Given the description of an element on the screen output the (x, y) to click on. 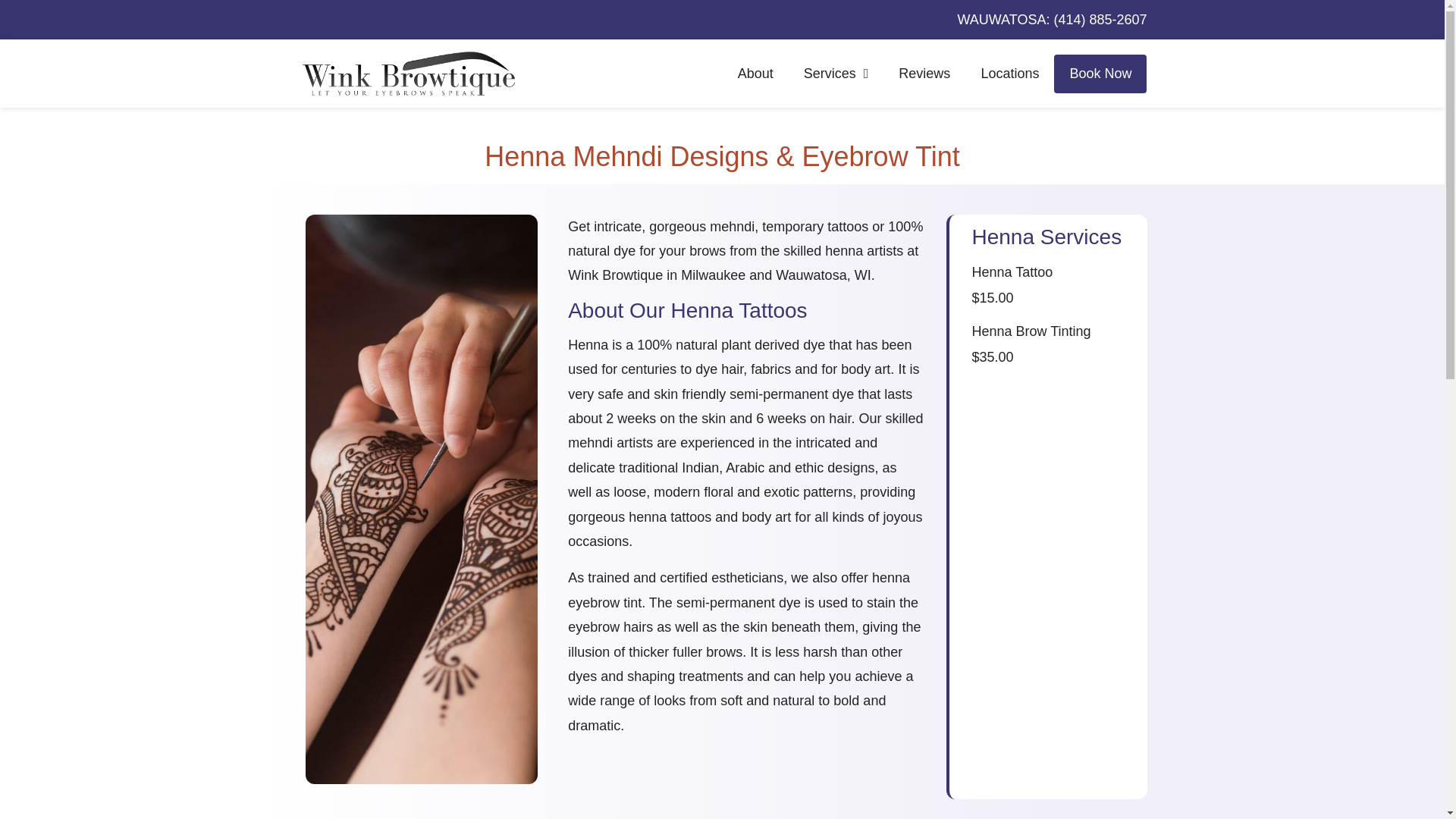
Book Now (1100, 73)
Locations (1009, 73)
Services (836, 73)
About (755, 73)
Reviews (924, 73)
